Given the description of an element on the screen output the (x, y) to click on. 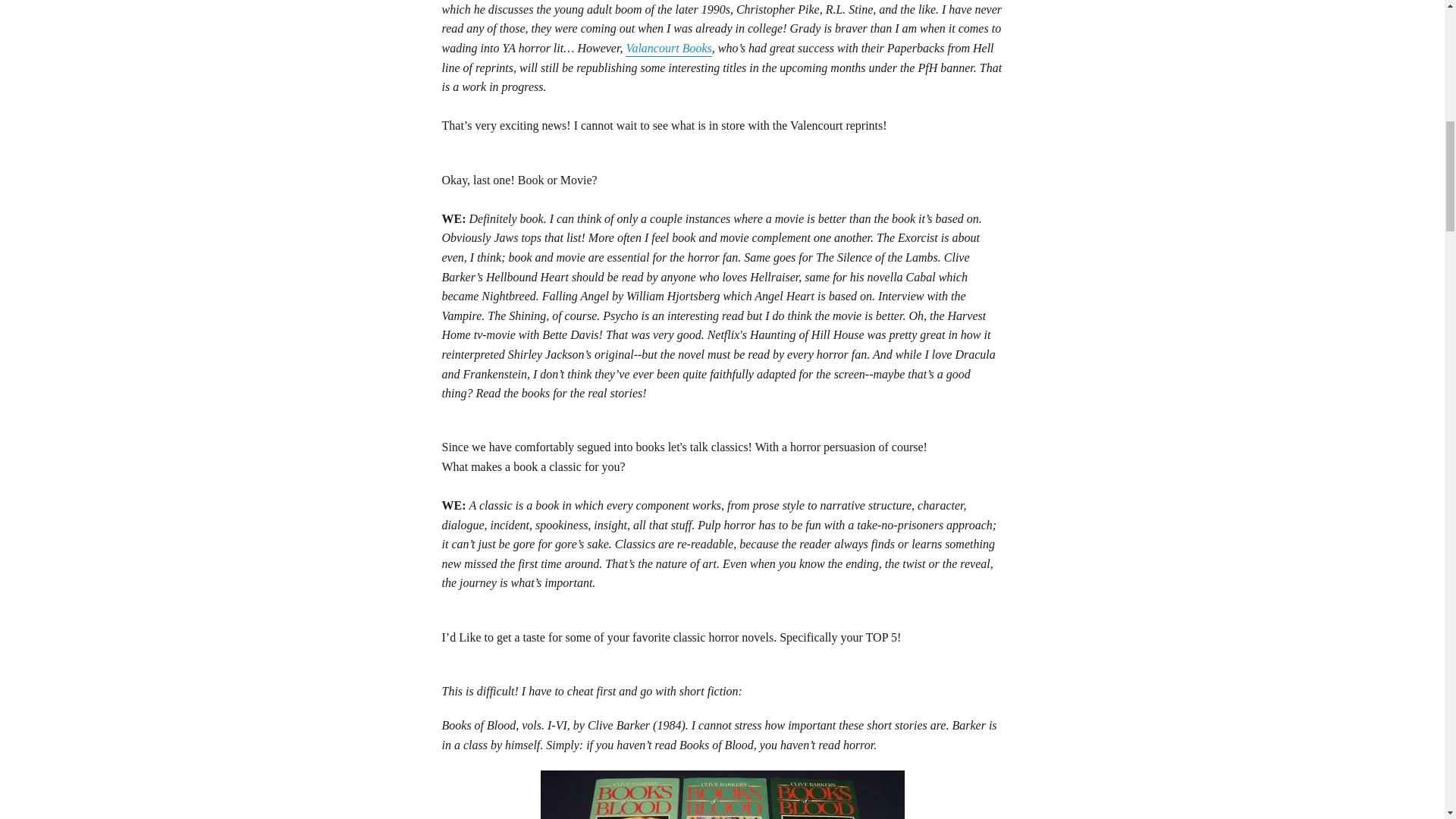
Valancourt Books (668, 48)
